Given the description of an element on the screen output the (x, y) to click on. 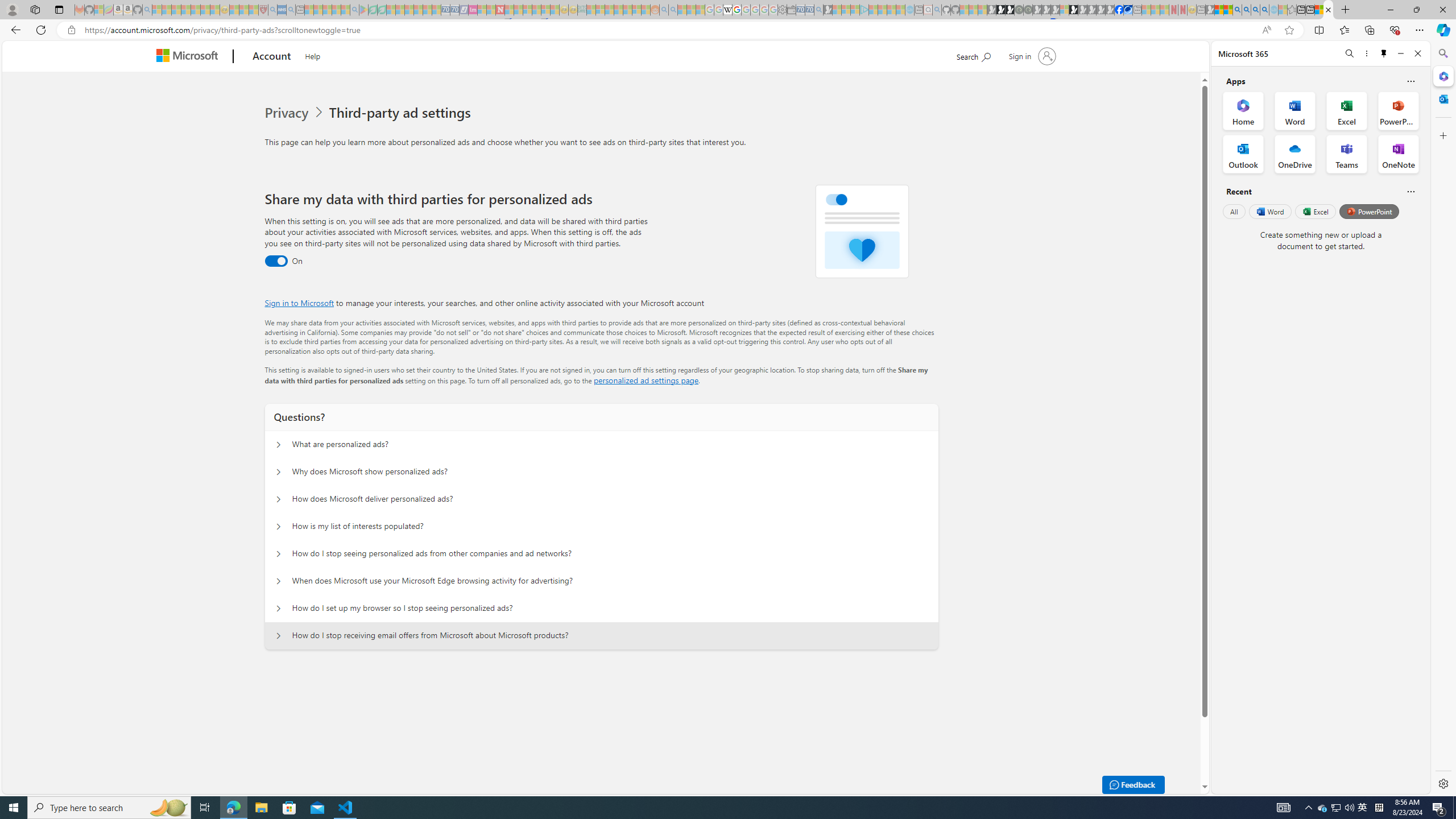
Future Focus Report 2024 - Sleeping (1027, 9)
Close Microsoft 365 pane (1442, 76)
